Given the description of an element on the screen output the (x, y) to click on. 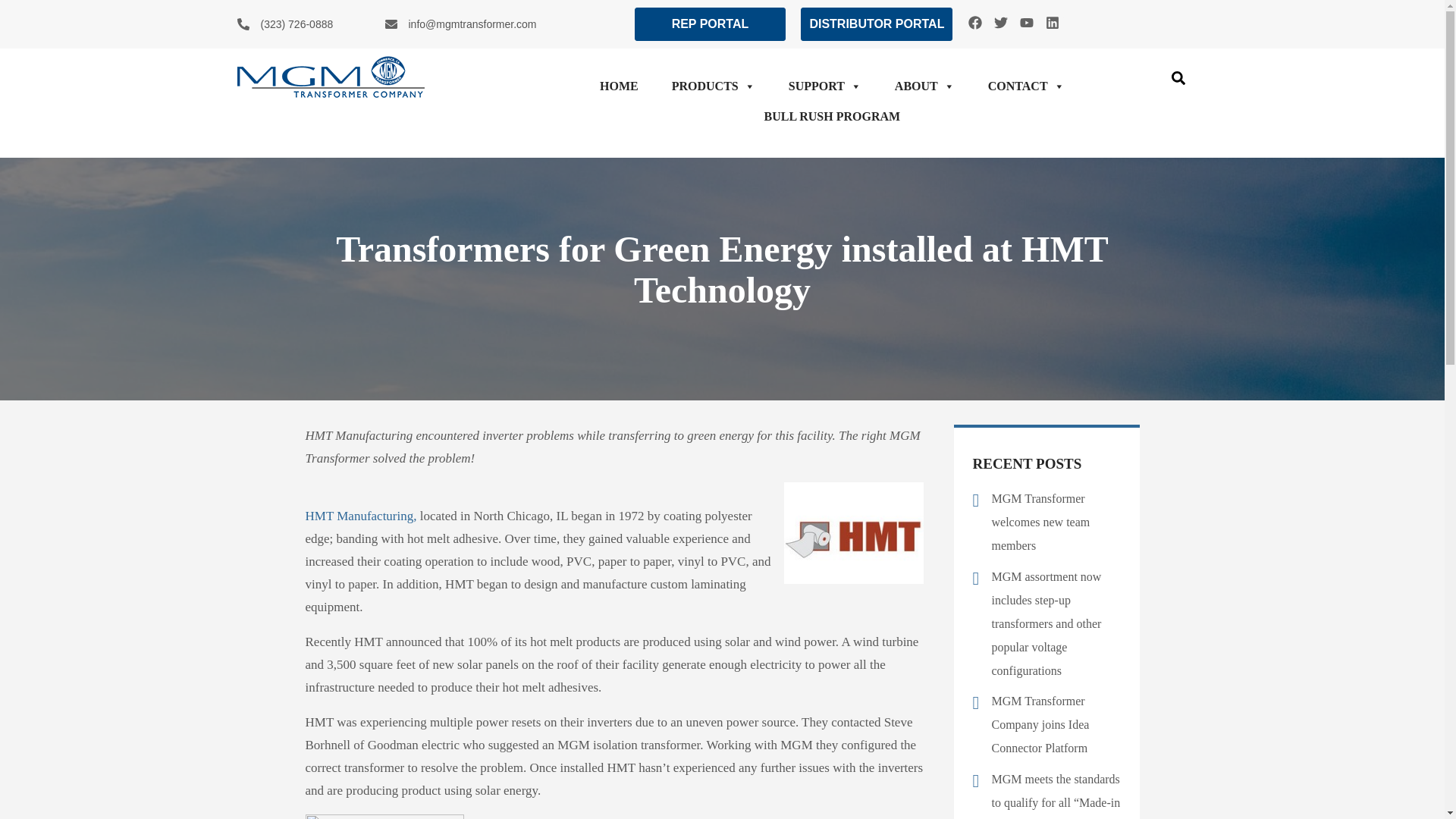
PRODUCTS (713, 86)
HOME (619, 86)
REP PORTAL (710, 24)
SUPPORT (824, 86)
DISTRIBUTOR PORTAL (876, 24)
